Given the description of an element on the screen output the (x, y) to click on. 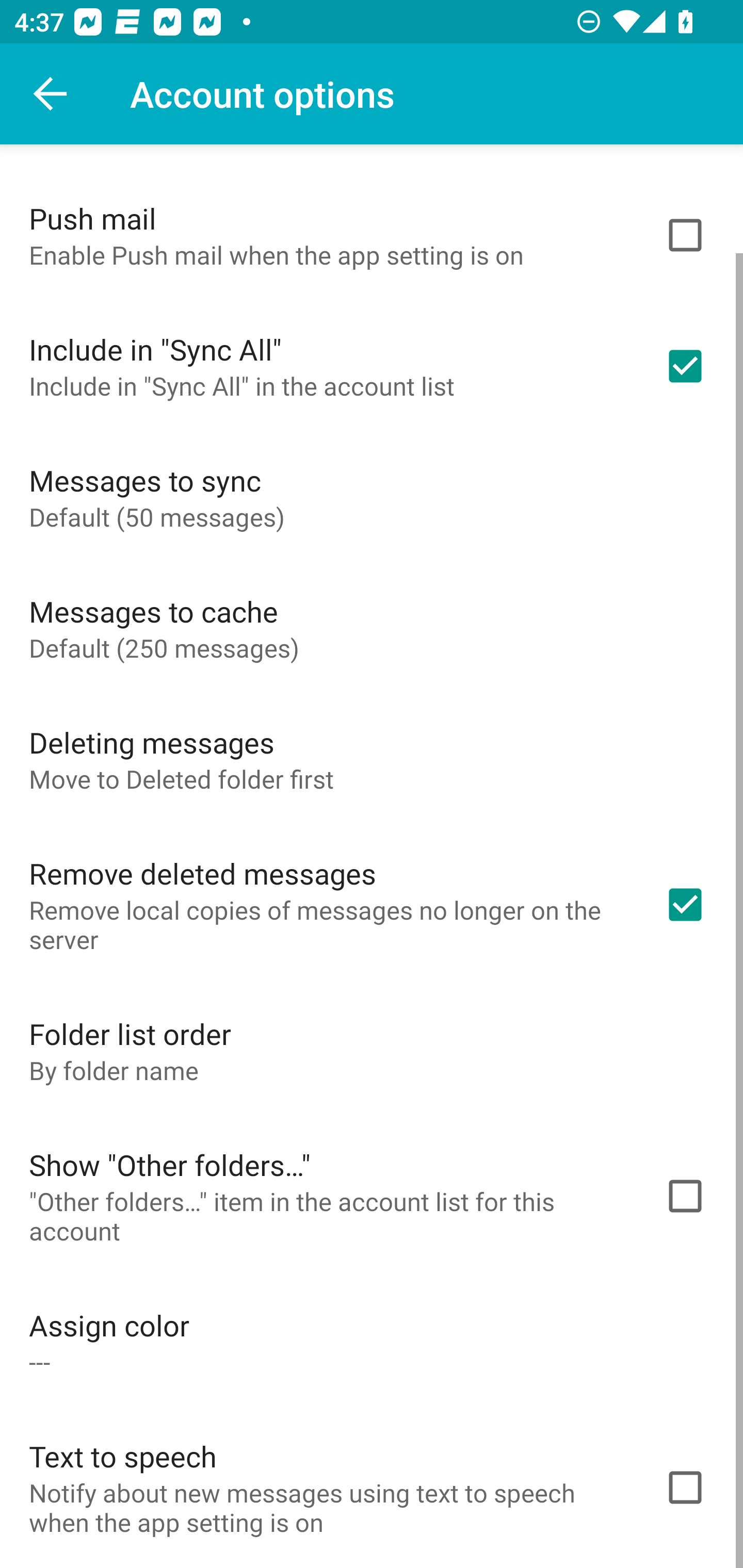
Navigate up (50, 93)
Messages to sync Default (50 messages) (371, 496)
Messages to cache Default (250 messages) (371, 627)
Deleting messages Move to Deleted folder first (371, 758)
Folder list order By folder name (371, 1050)
Assign color --- (371, 1342)
